Given the description of an element on the screen output the (x, y) to click on. 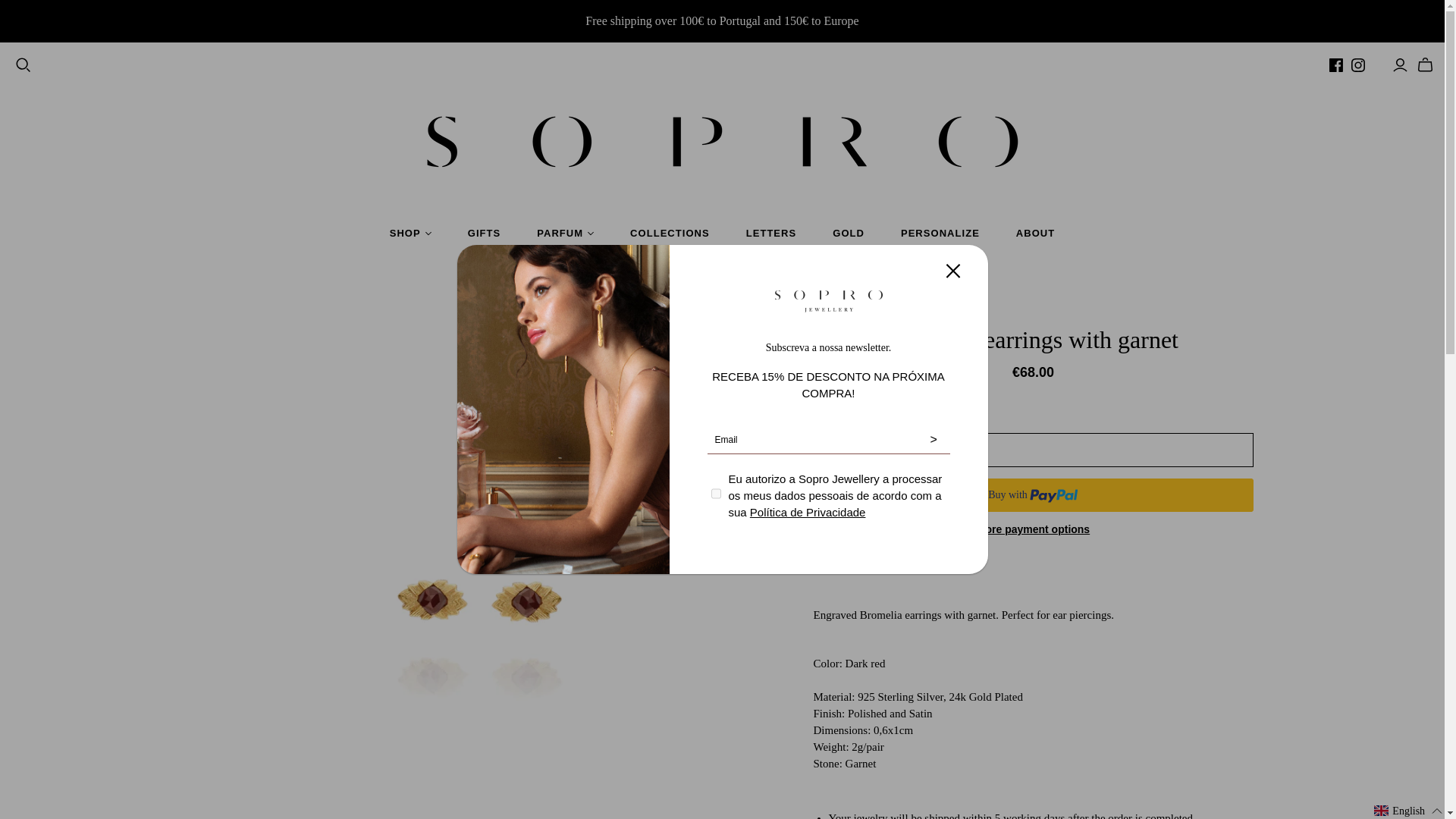
ABOUT (1035, 233)
GOLD (847, 233)
SHOP (410, 233)
GIFTS (483, 233)
PARFUM (564, 233)
LETTERS (771, 233)
PERSONALIZE (939, 233)
COLLECTIONS (669, 233)
